Given the description of an element on the screen output the (x, y) to click on. 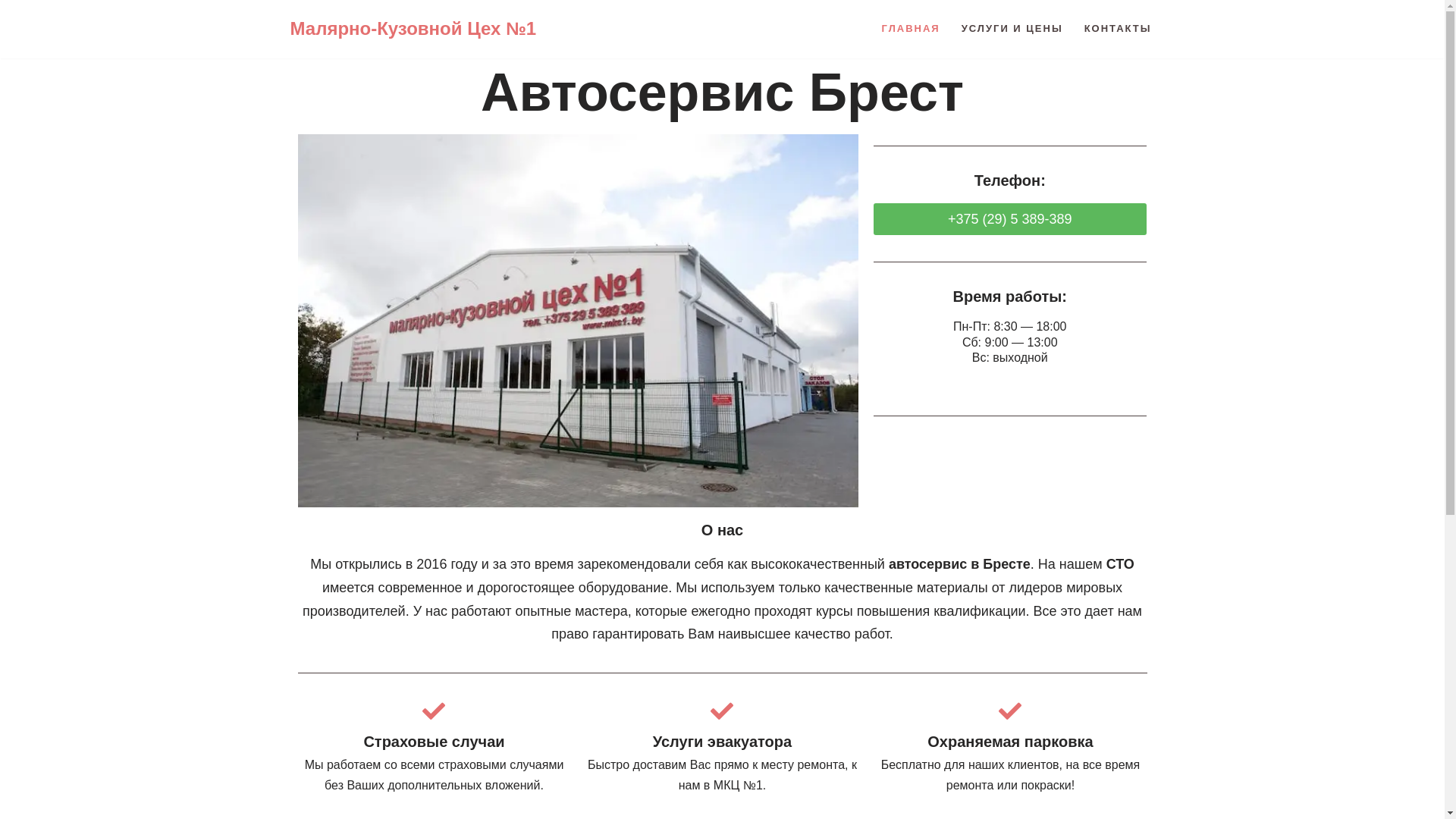
+375 (29) 5 389-389 Element type: text (1009, 219)
